Given the description of an element on the screen output the (x, y) to click on. 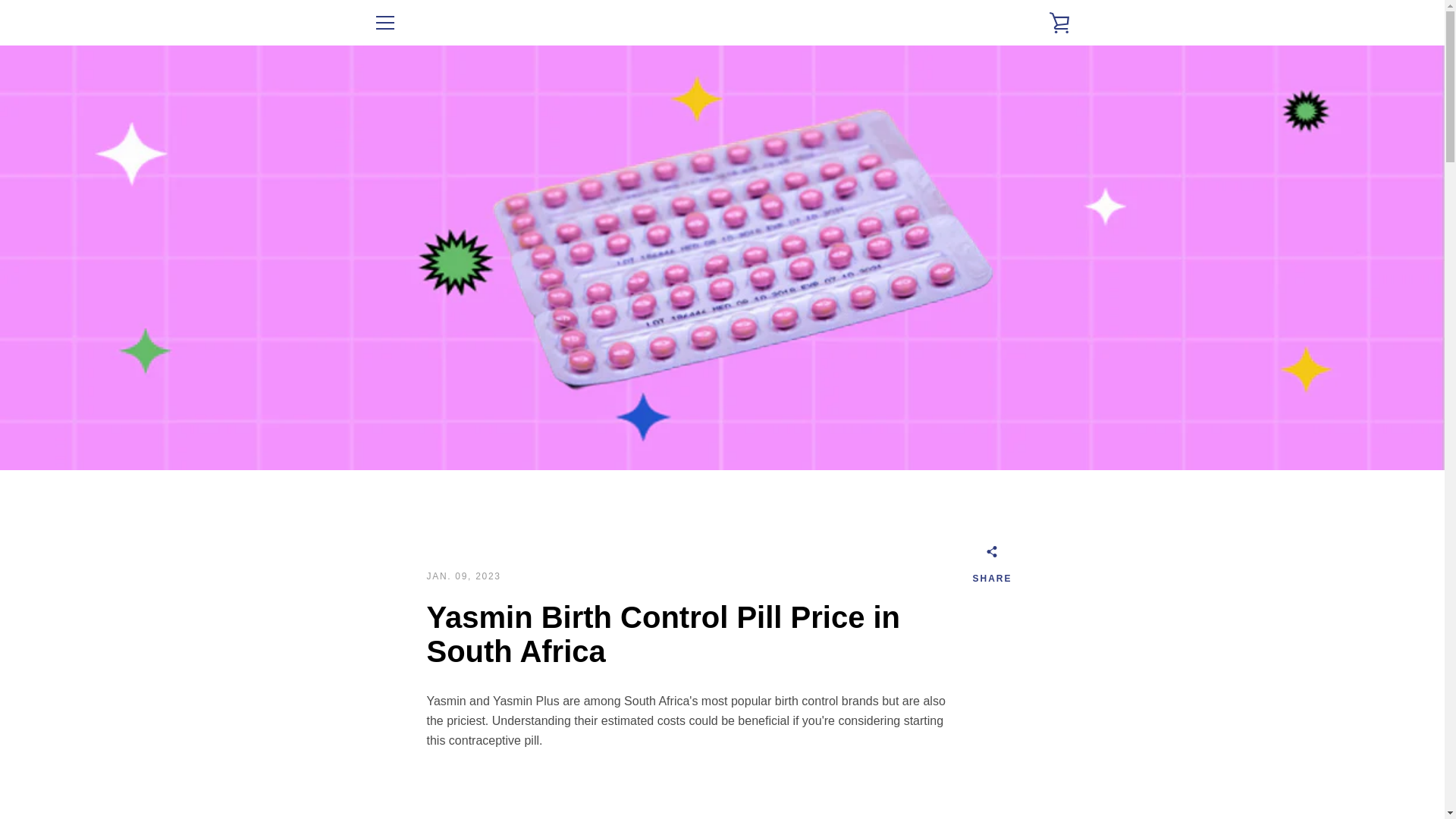
SHARE (991, 567)
MENU (384, 22)
VIEW CART (1059, 22)
